Given the description of an element on the screen output the (x, y) to click on. 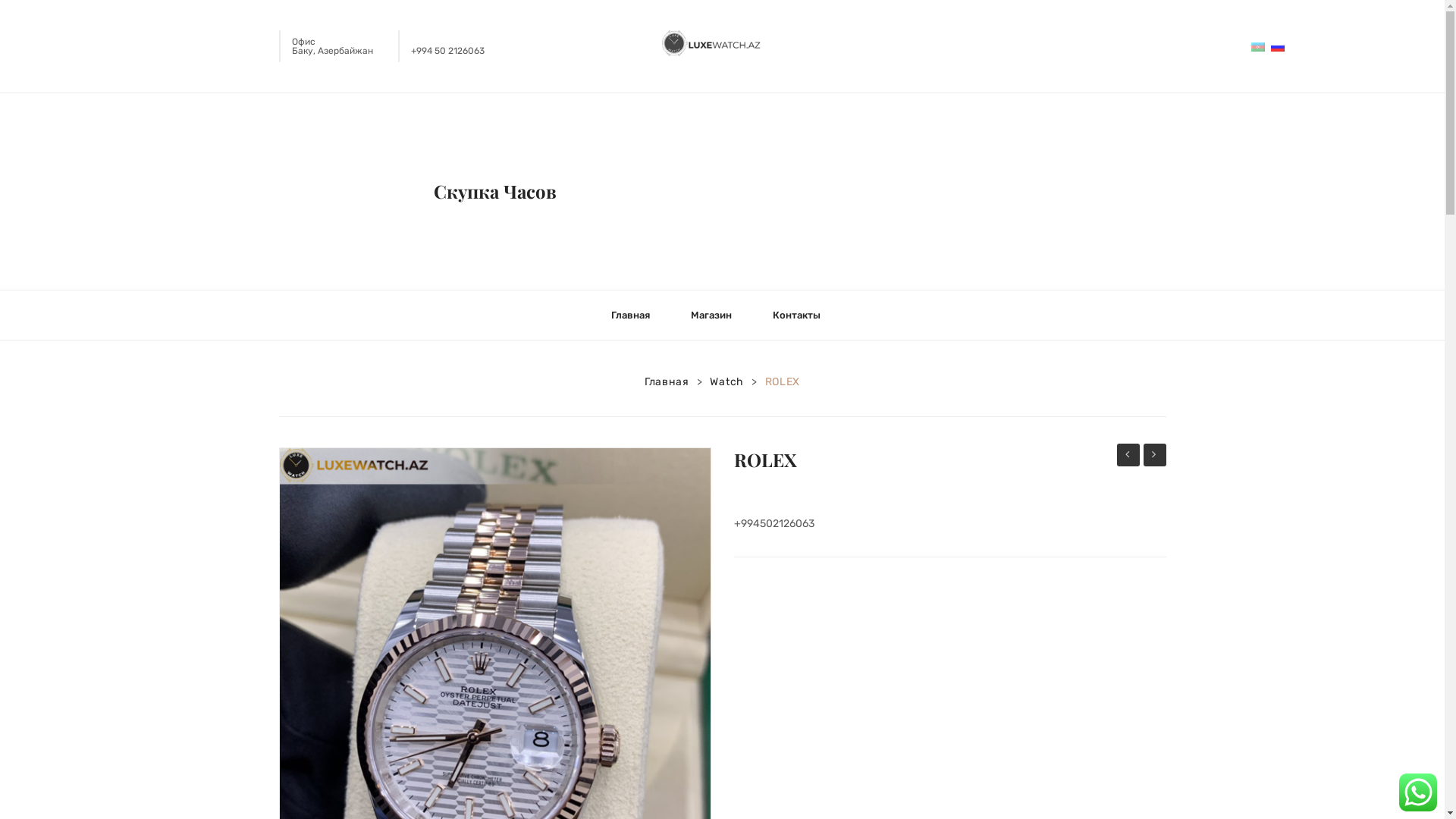
Watch Element type: text (726, 381)
Patek Philippe Element type: text (1127, 454)
Azerbaijan (az) Element type: hover (1257, 45)
PERRELET Element type: text (1154, 454)
